Given the description of an element on the screen output the (x, y) to click on. 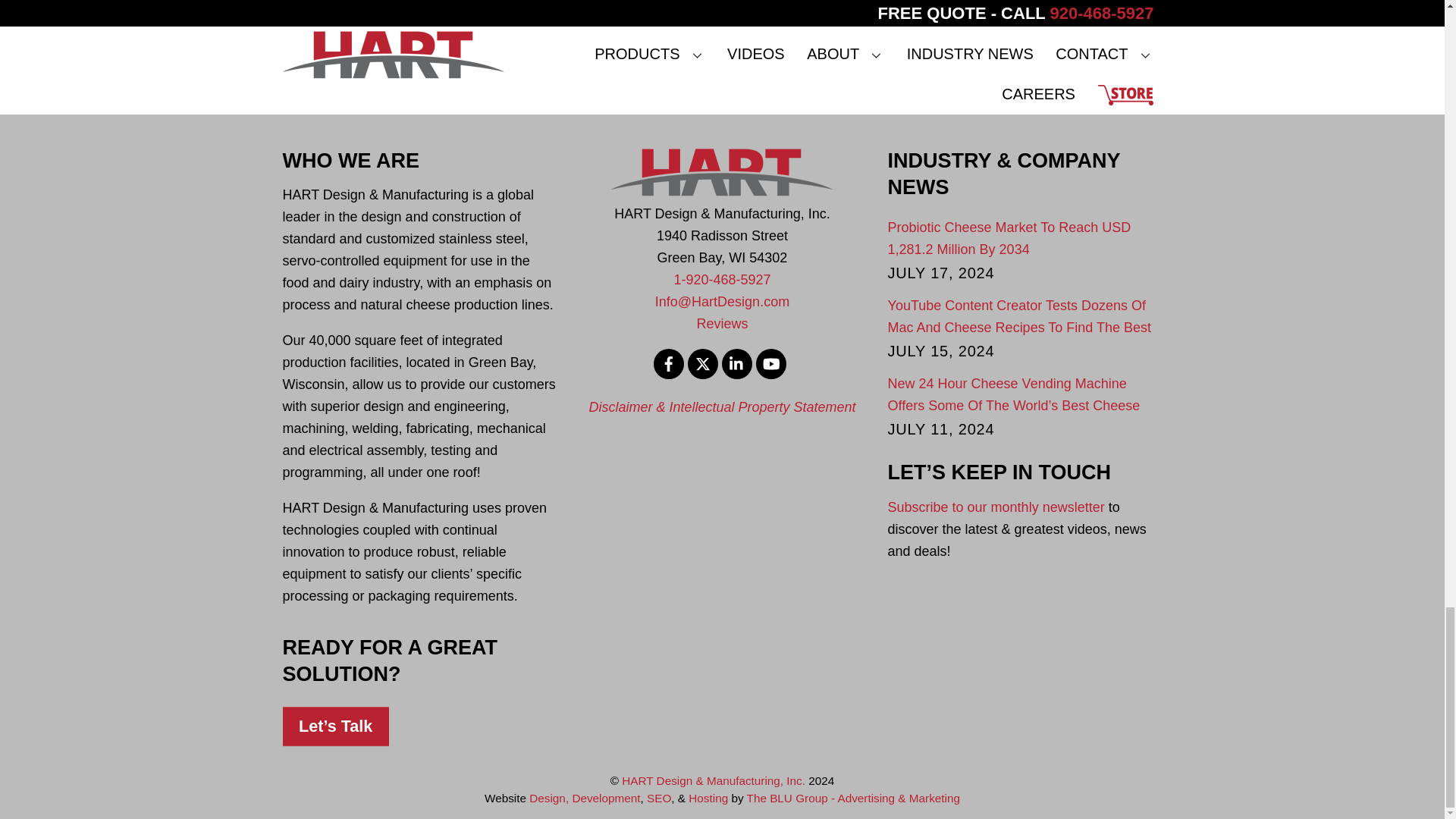
HART (721, 191)
HART (721, 172)
